Given the description of an element on the screen output the (x, y) to click on. 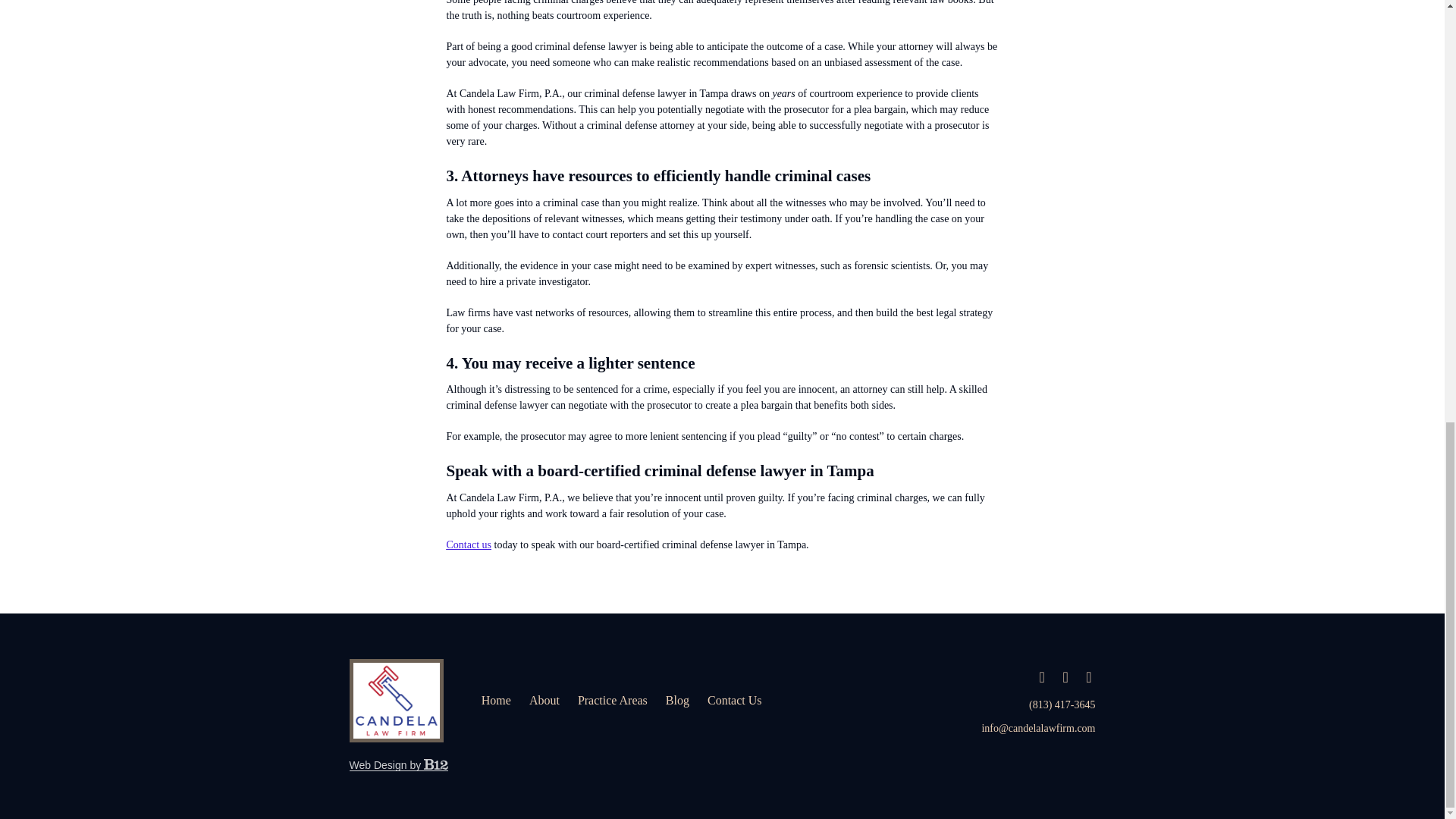
Home (496, 700)
Blog (676, 700)
Web Design by (397, 765)
Contact Us (734, 700)
About (544, 700)
Practice Areas (612, 700)
Contact us (468, 544)
